Given the description of an element on the screen output the (x, y) to click on. 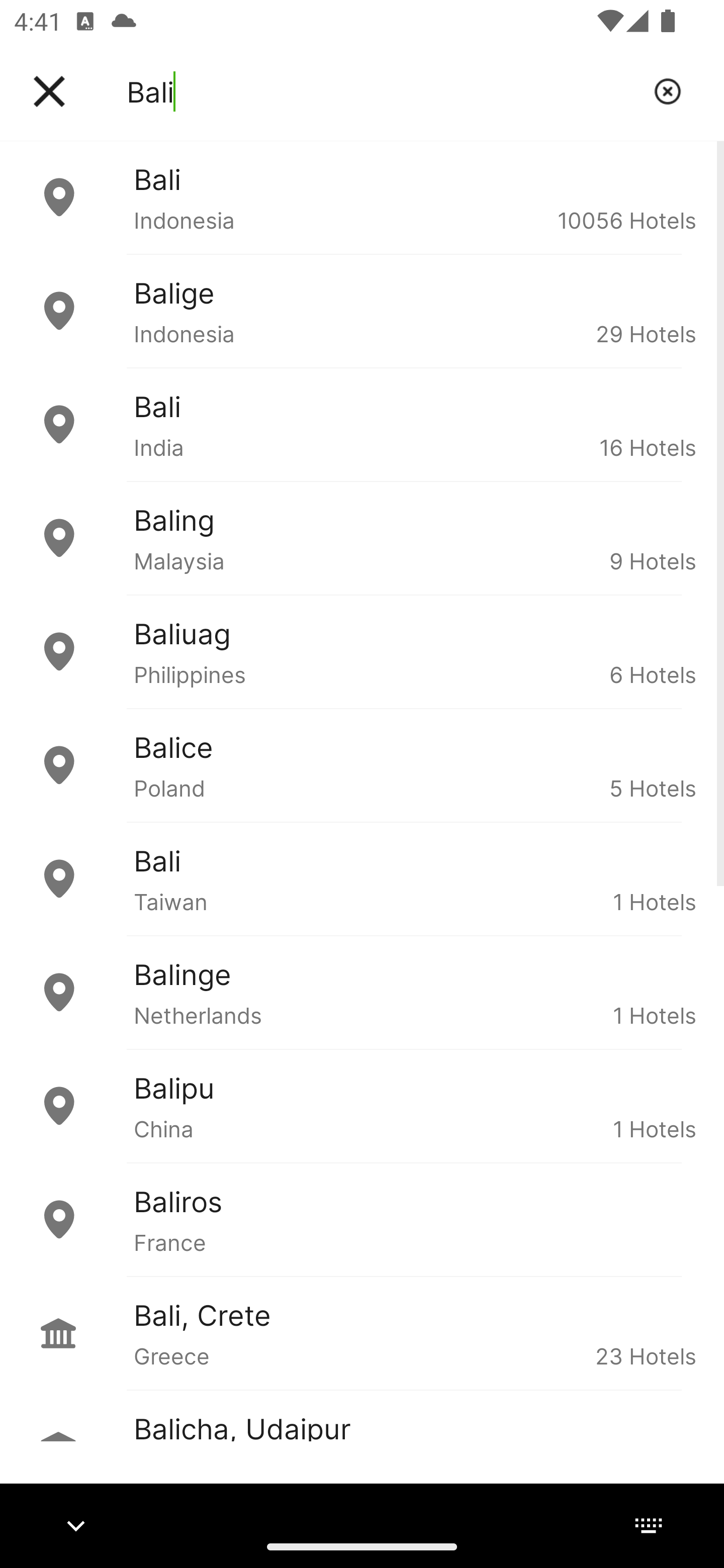
Bali (382, 91)
Bali Indonesia 10056 Hotels (362, 197)
Balige Indonesia 29 Hotels (362, 310)
Bali India 16 Hotels (362, 424)
Baling Malaysia 9 Hotels (362, 537)
Baliuag Philippines 6 Hotels (362, 651)
Balice Poland 5 Hotels (362, 764)
Bali Taiwan 1 Hotels (362, 878)
Balinge Netherlands 1 Hotels (362, 992)
Balipu China 1 Hotels (362, 1105)
Baliros France (362, 1219)
Bali, Crete Greece 23 Hotels (362, 1332)
